Given the description of an element on the screen output the (x, y) to click on. 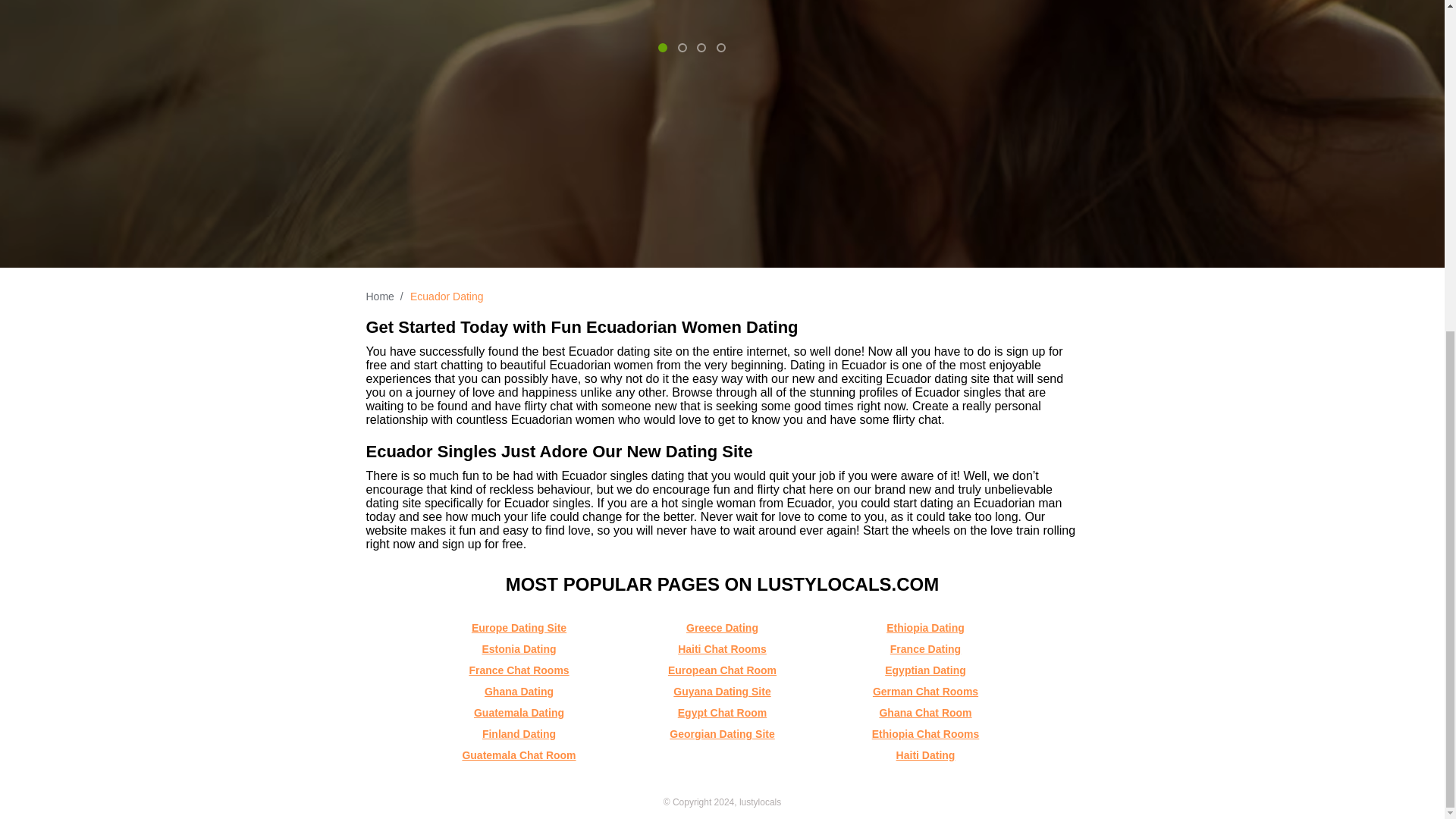
France Dating (924, 648)
Egypt Chat Room (722, 712)
Europe Dating Site (518, 627)
Guyana Dating Site (721, 691)
Home (379, 296)
Guatemala Chat Room (518, 755)
Haiti Dating (925, 755)
Guatemala Chat Room (518, 755)
Finland Dating (518, 734)
Greece Dating (721, 627)
